Given the description of an element on the screen output the (x, y) to click on. 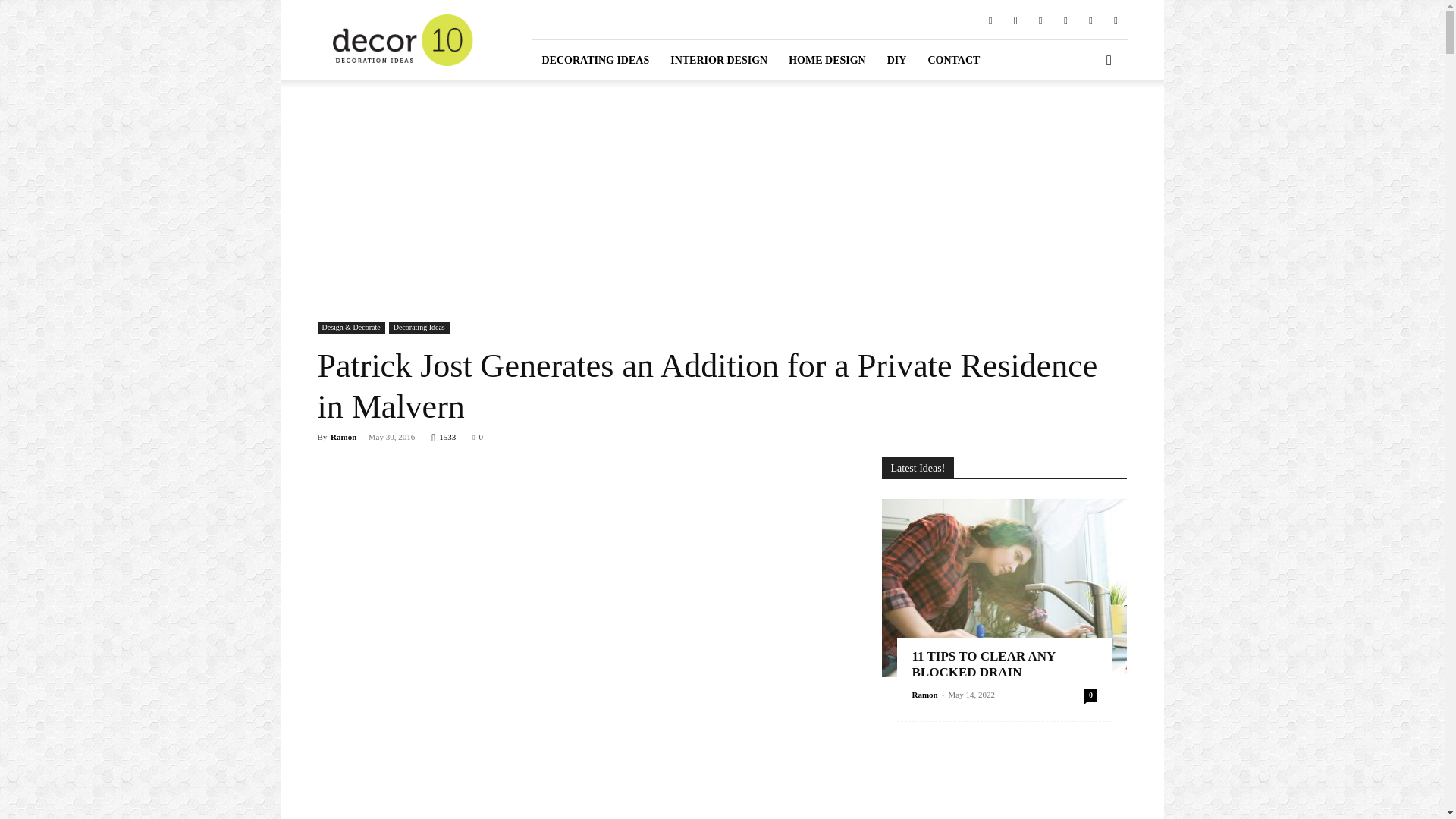
CONTACT (953, 60)
0 (477, 436)
Search (1085, 122)
Facebook (989, 19)
DECORATING IDEAS (595, 60)
Pinterest (1040, 19)
Decorating Ideas (418, 327)
WordPress (1114, 19)
Instagram (1015, 19)
